Given the description of an element on the screen output the (x, y) to click on. 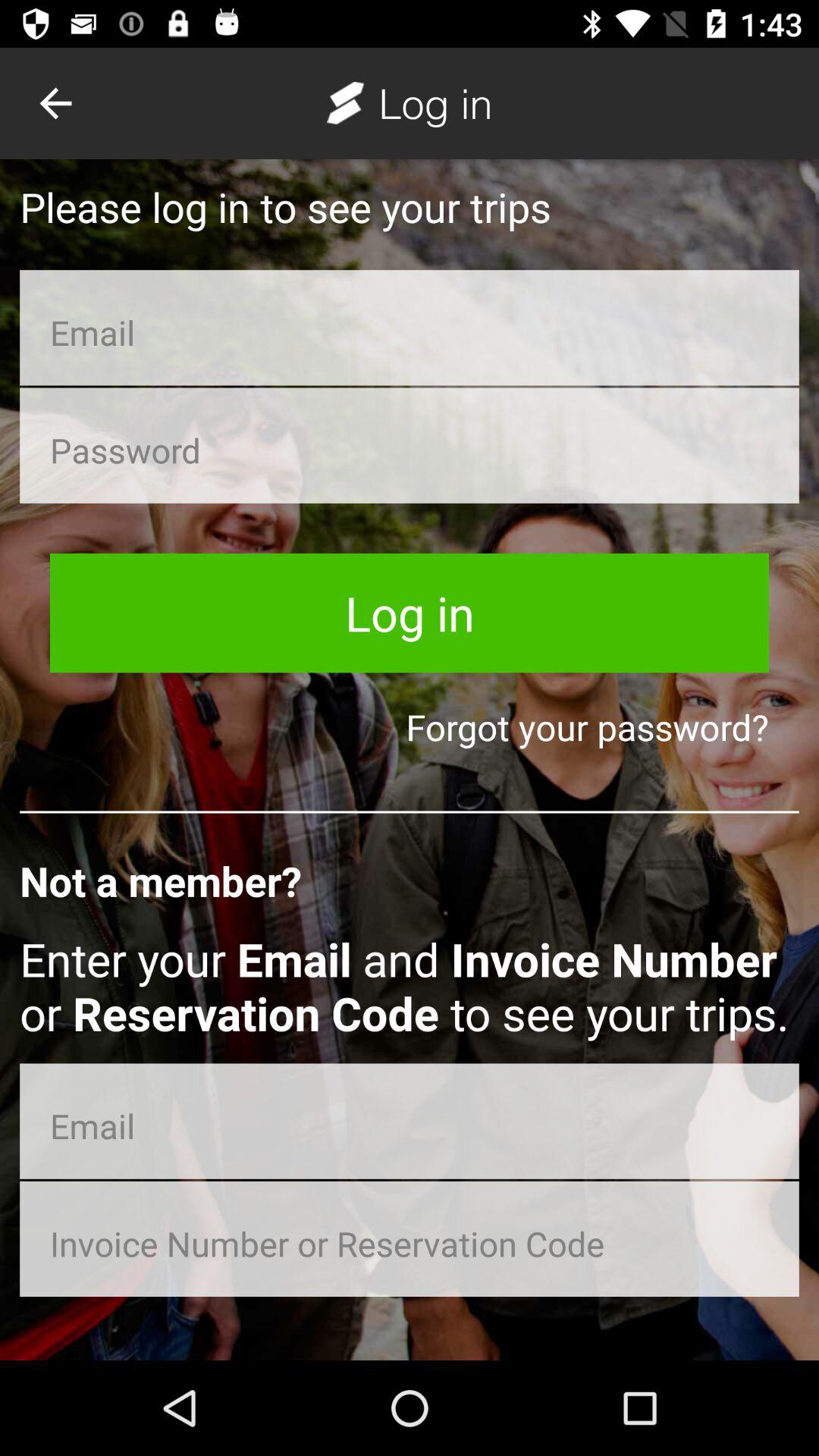
open the item above the please log in icon (55, 103)
